Given the description of an element on the screen output the (x, y) to click on. 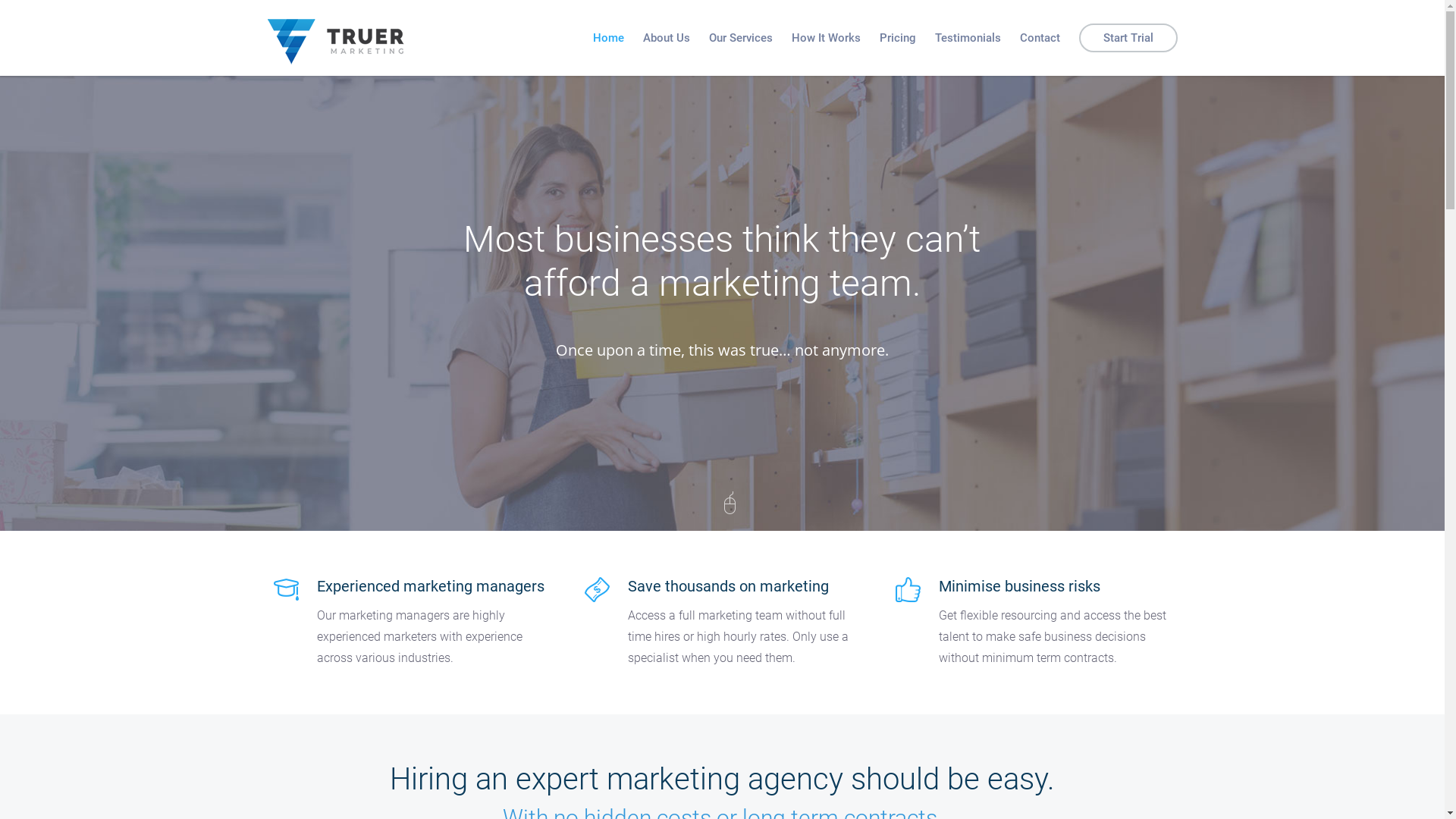
About Us Element type: text (666, 37)
Start Trial Element type: text (1127, 37)
How It Works Element type: text (825, 37)
Testimonials Element type: text (967, 37)
Our Services Element type: text (739, 37)
Contact Element type: text (1039, 37)
Pricing Element type: text (897, 37)
Home Element type: text (608, 37)
